Given the description of an element on the screen output the (x, y) to click on. 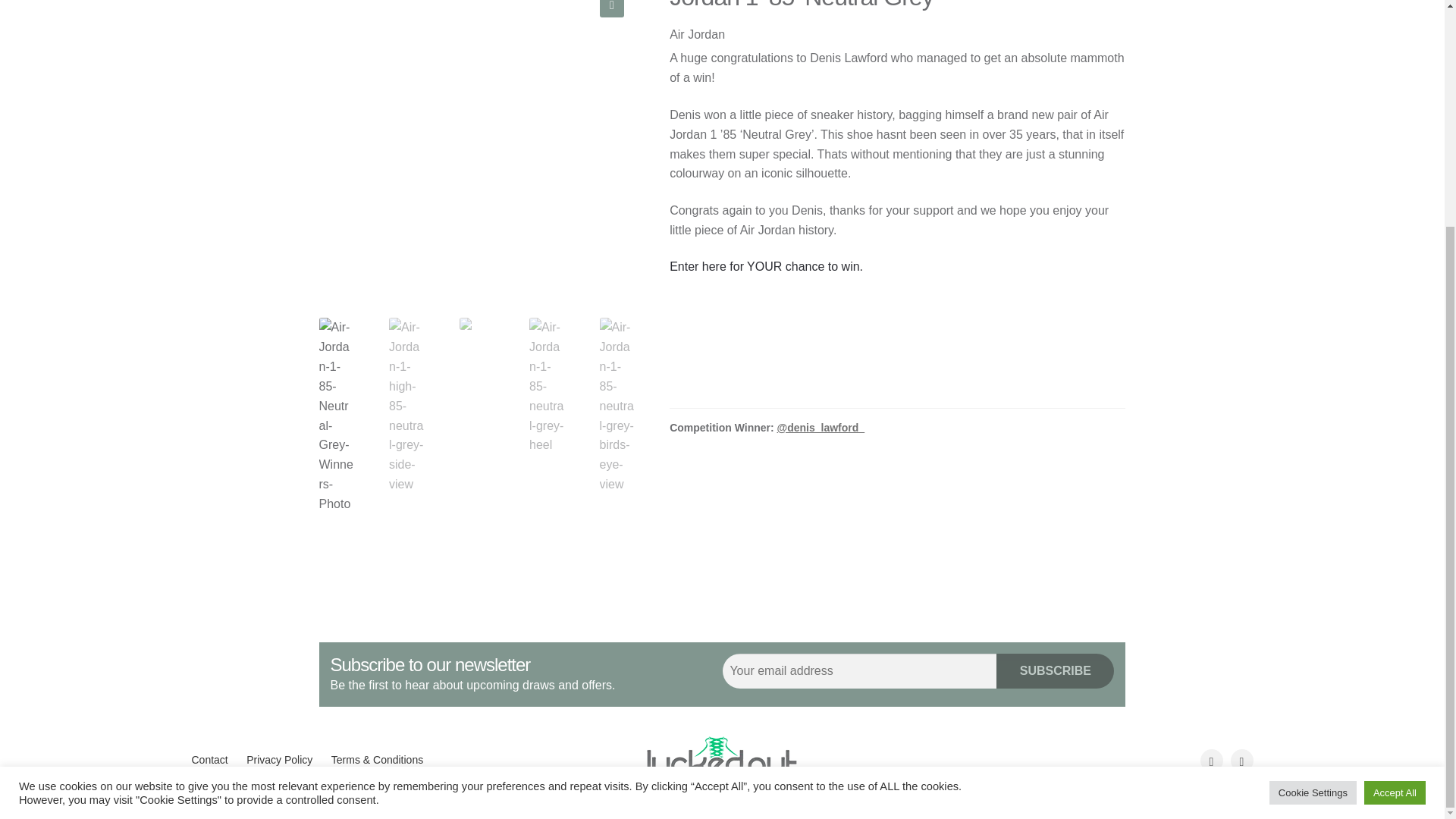
Enter here for YOUR chance to win. (766, 266)
Contact (208, 760)
Subscribe (1054, 670)
Air Jordan 1 85 Neutral Grey Winner Photo (476, 149)
Subscribe (1054, 670)
Customer reviews powered by Trustpilot (897, 350)
